Given the description of an element on the screen output the (x, y) to click on. 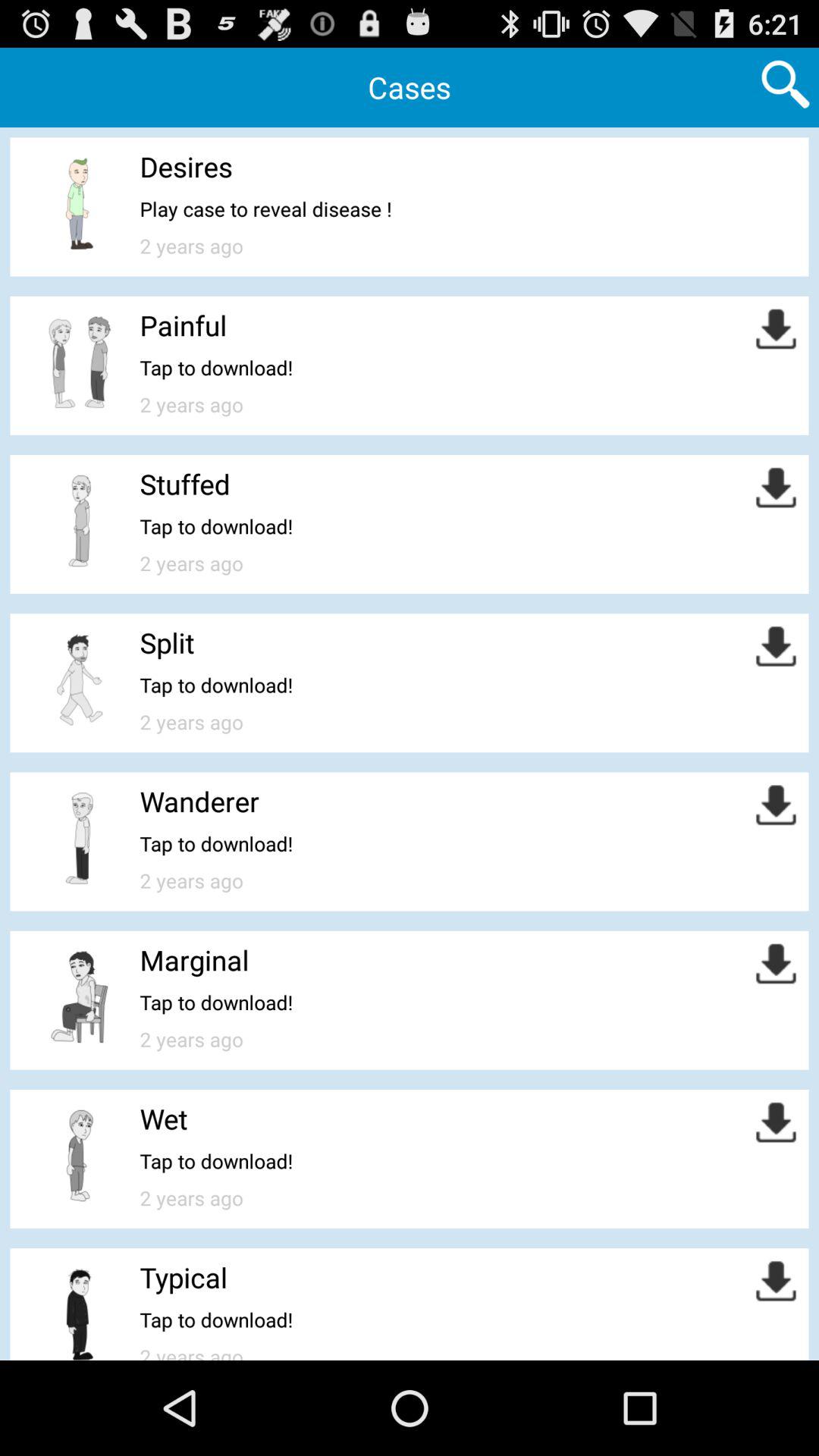
flip to the play case to item (265, 208)
